Given the description of an element on the screen output the (x, y) to click on. 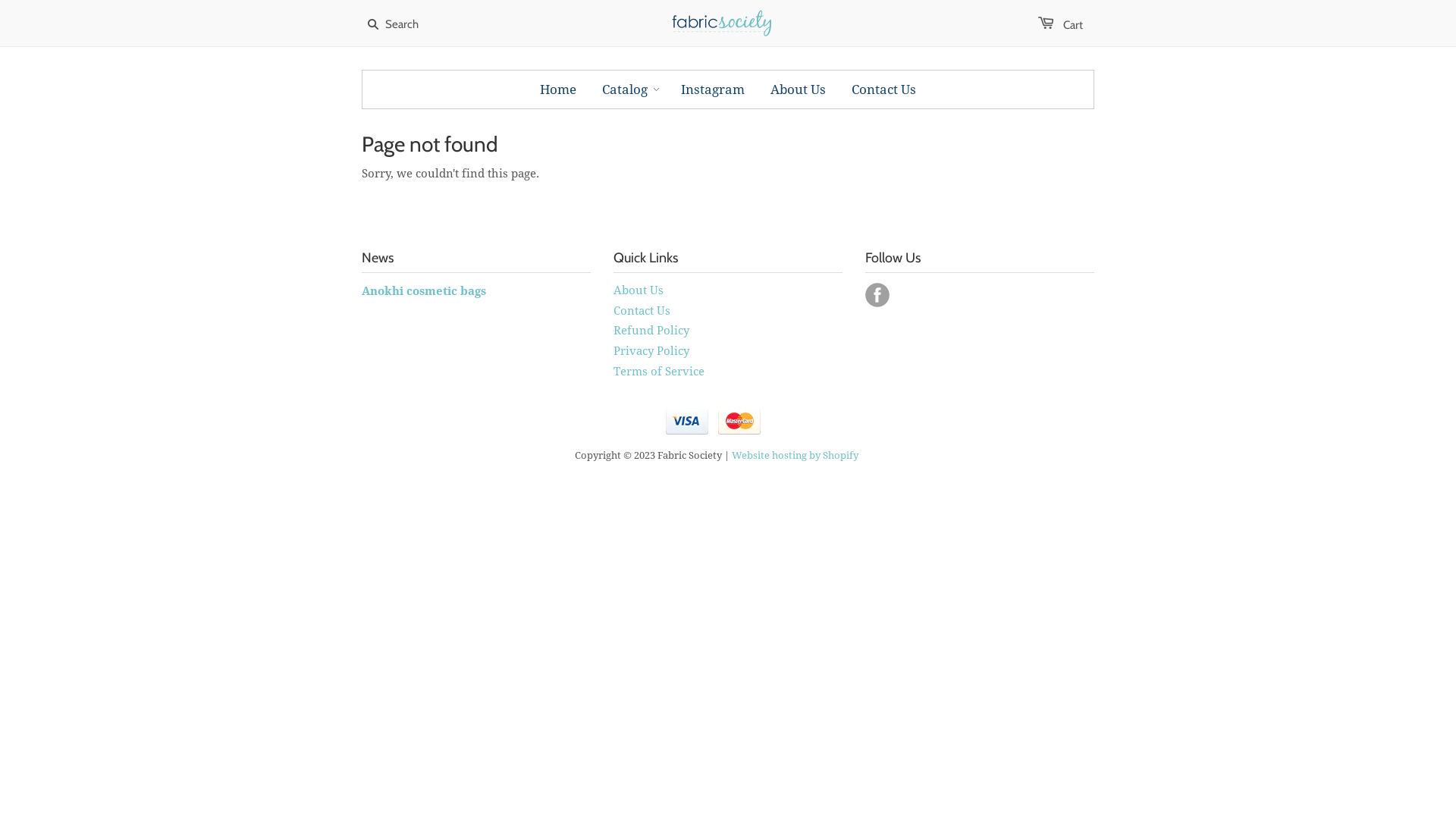
Website hosting by Shopify Element type: text (794, 455)
About Us Element type: text (638, 290)
Instagram Element type: text (712, 89)
Contact Us Element type: text (883, 89)
About Us Element type: text (798, 89)
Cart Element type: text (1060, 24)
Privacy Policy Element type: text (651, 350)
Catalog Element type: text (624, 89)
Refund Policy Element type: text (651, 330)
Facebook Element type: text (877, 294)
Home Element type: text (557, 89)
Contact Us Element type: text (641, 309)
Terms of Service Element type: text (658, 371)
Anokhi cosmetic bags Element type: text (423, 291)
